Given the description of an element on the screen output the (x, y) to click on. 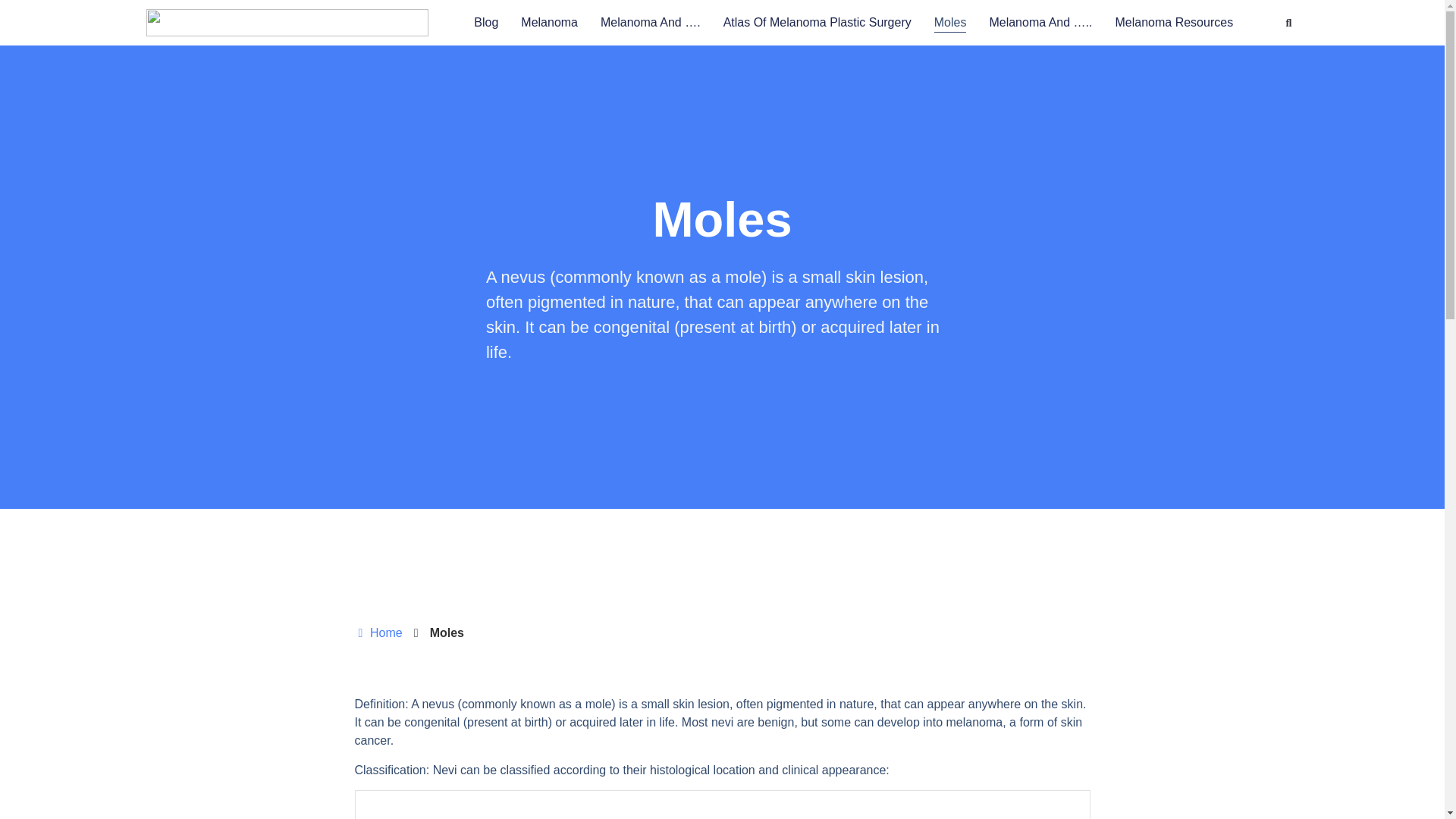
Blog (485, 22)
Blog (485, 22)
Melanoma (549, 22)
Melanoma (549, 22)
